Given the description of an element on the screen output the (x, y) to click on. 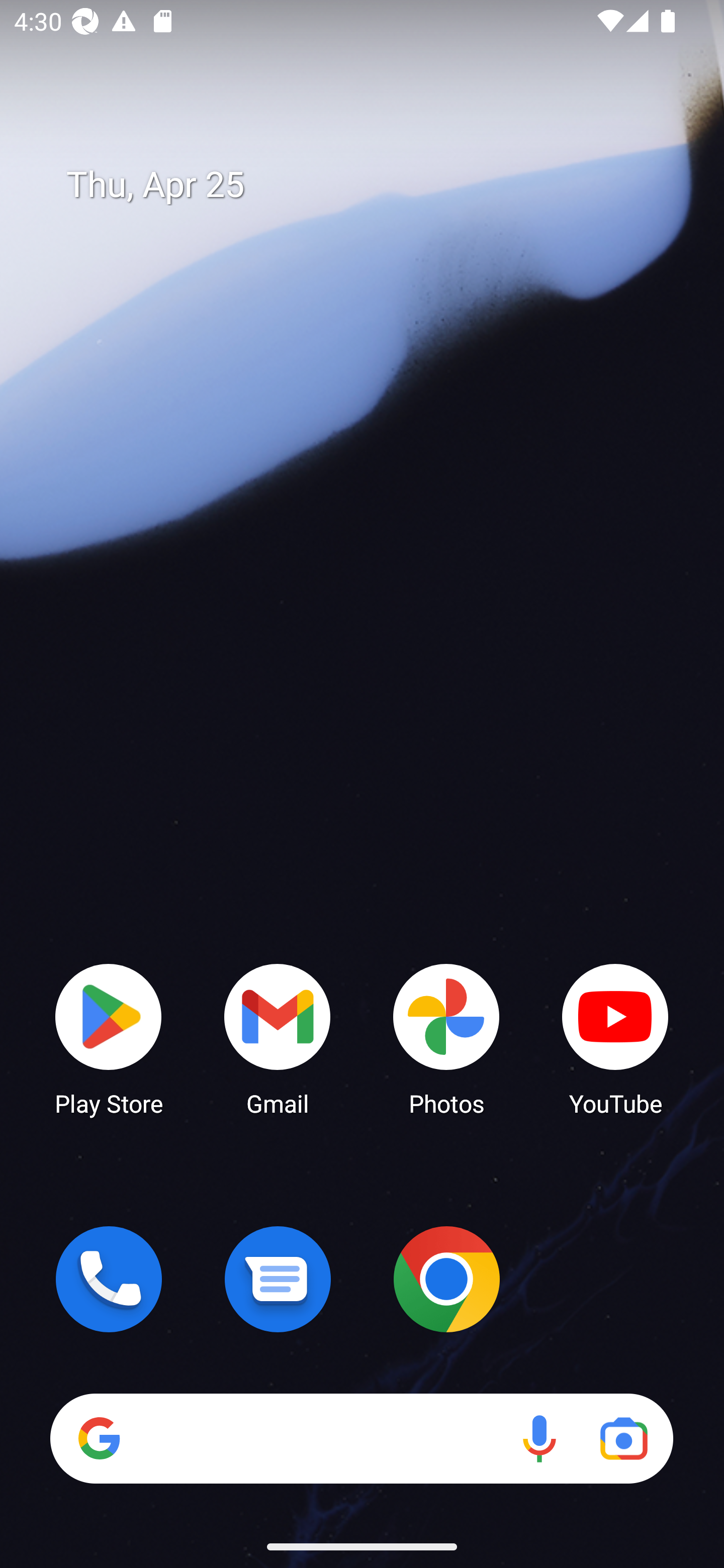
Thu, Apr 25 (375, 184)
Play Store (108, 1038)
Gmail (277, 1038)
Photos (445, 1038)
YouTube (615, 1038)
Phone (108, 1279)
Messages (277, 1279)
Chrome (446, 1279)
Search Voice search Google Lens (361, 1438)
Voice search (539, 1438)
Google Lens (623, 1438)
